Given the description of an element on the screen output the (x, y) to click on. 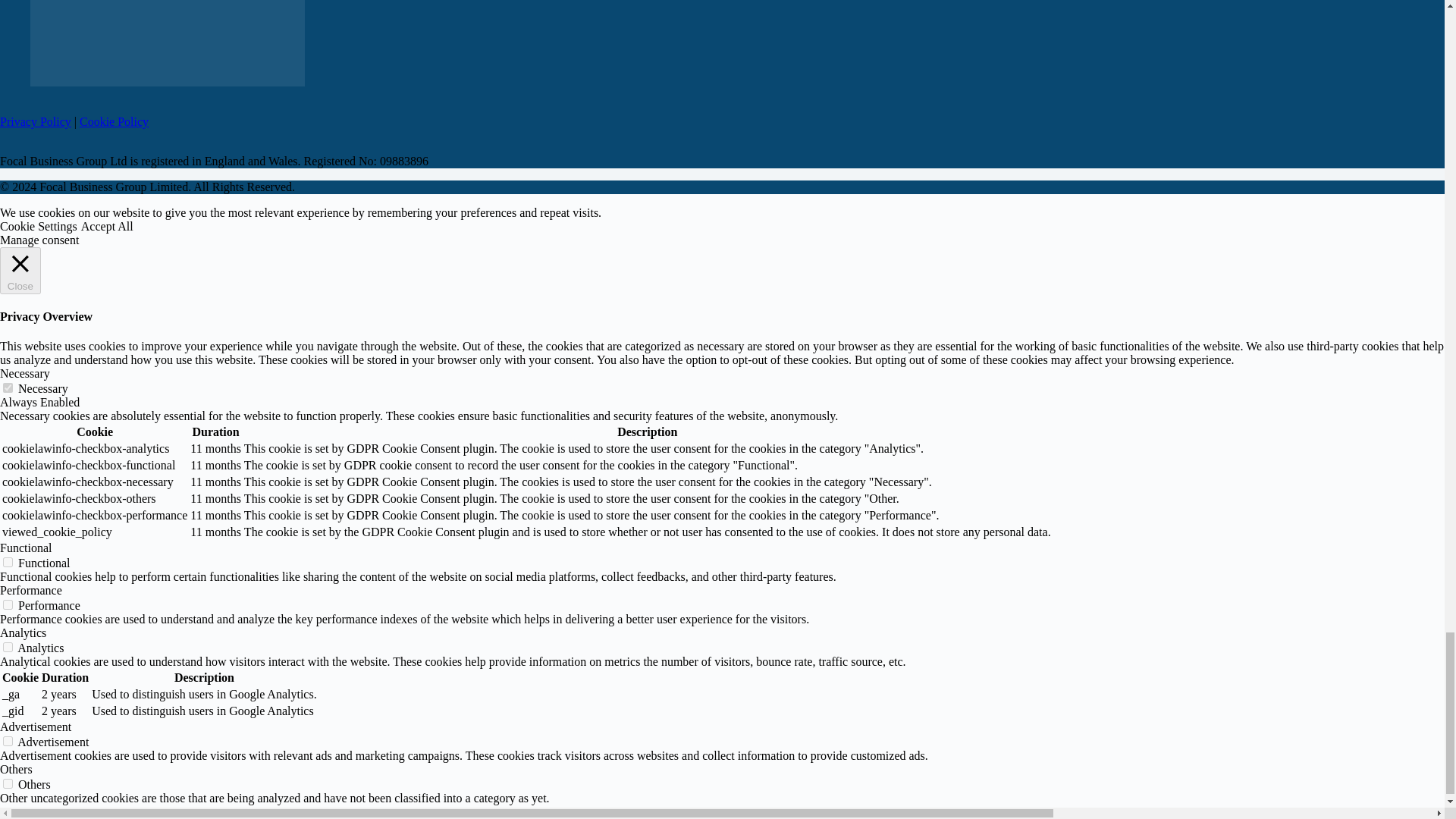
on (7, 562)
Analytics (23, 632)
Performance (31, 590)
on (7, 646)
Cookie Settings (38, 226)
Accept All (107, 226)
Advertisement (35, 726)
on (7, 741)
Close (20, 270)
on (7, 388)
on (7, 604)
Others (16, 768)
Cookie Policy (114, 121)
Necessary (24, 373)
on (7, 783)
